Given the description of an element on the screen output the (x, y) to click on. 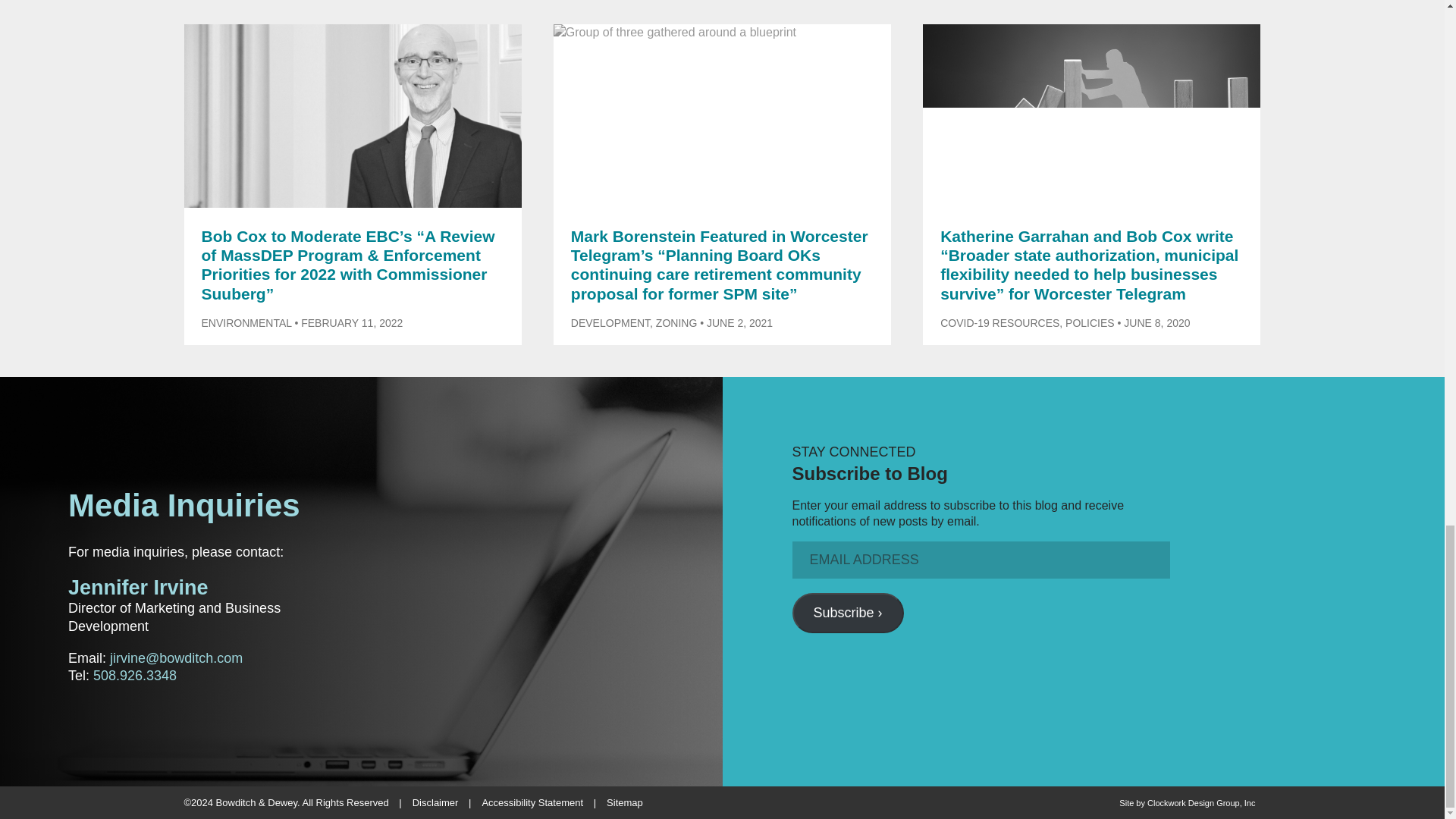
COVID-19 RESOURCES (999, 322)
ENVIRONMENTAL (247, 322)
POLICIES (1090, 322)
DEVELOPMENT (609, 322)
ZONING (676, 322)
